Given the description of an element on the screen output the (x, y) to click on. 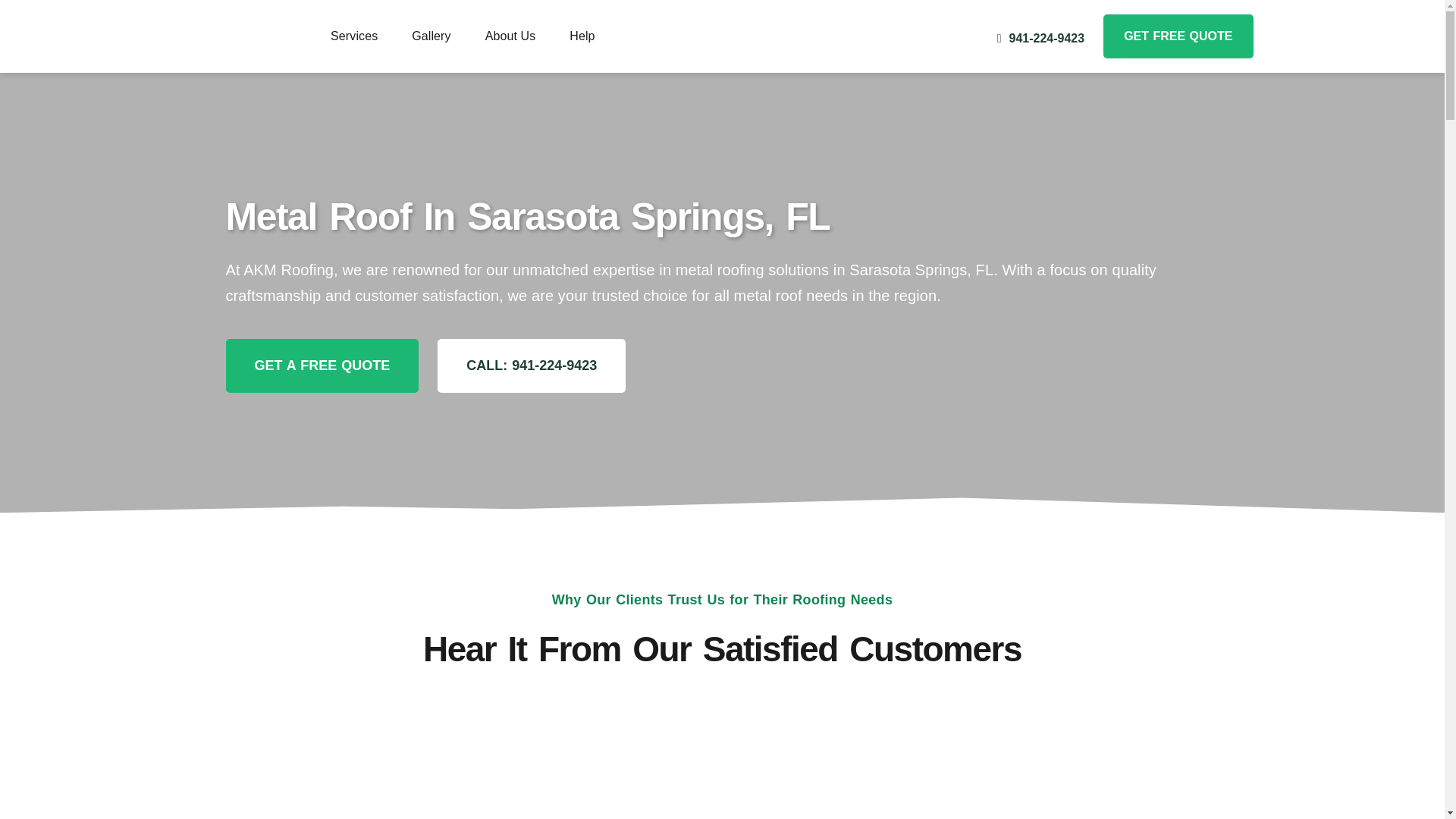
About Us (509, 36)
Gallery (430, 36)
Services (353, 36)
